Given the description of an element on the screen output the (x, y) to click on. 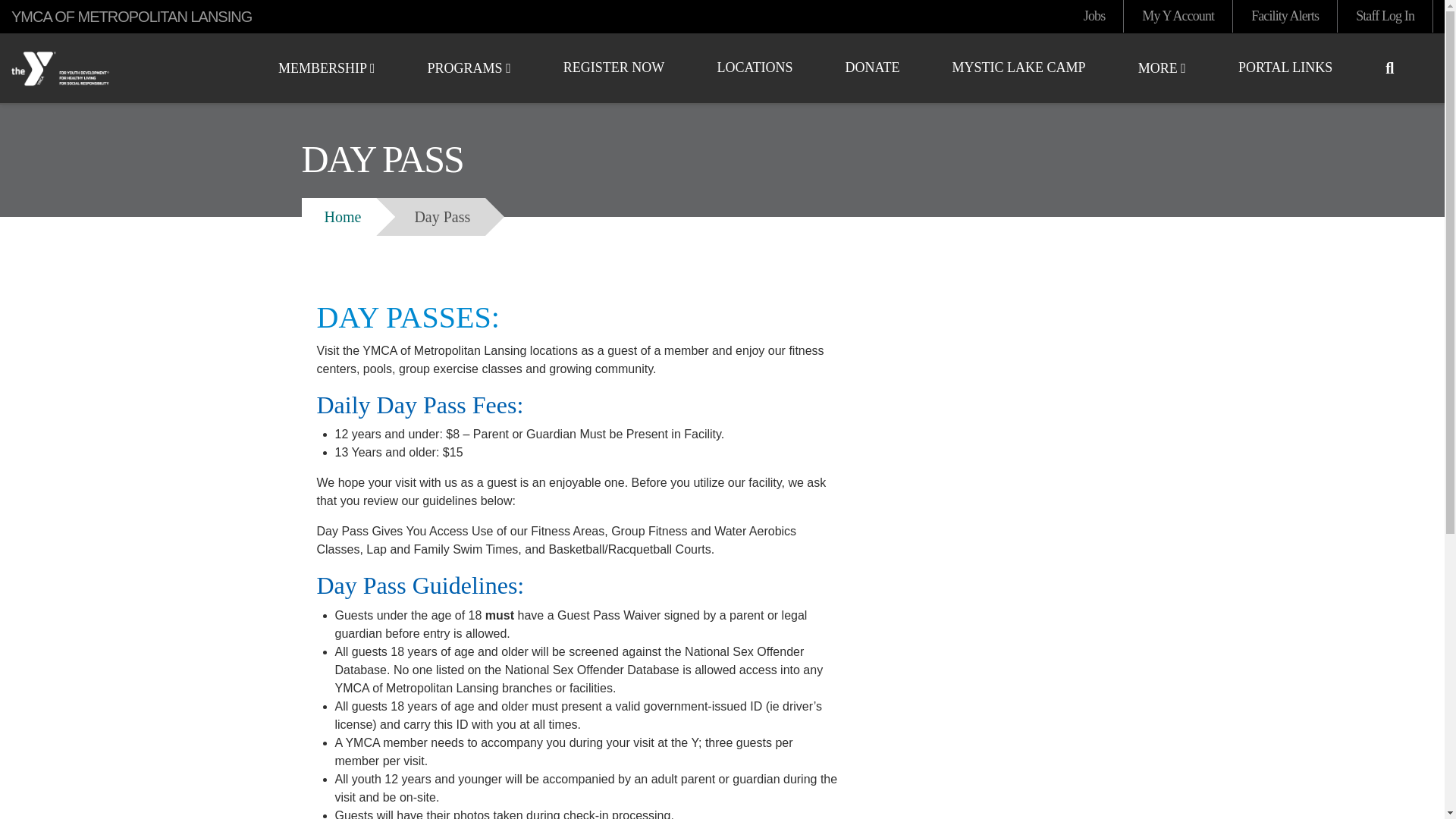
Jobs (1093, 16)
YMCA OF METROPOLITAN LANSING (120, 68)
My Y Account (1177, 16)
